Given the description of an element on the screen output the (x, y) to click on. 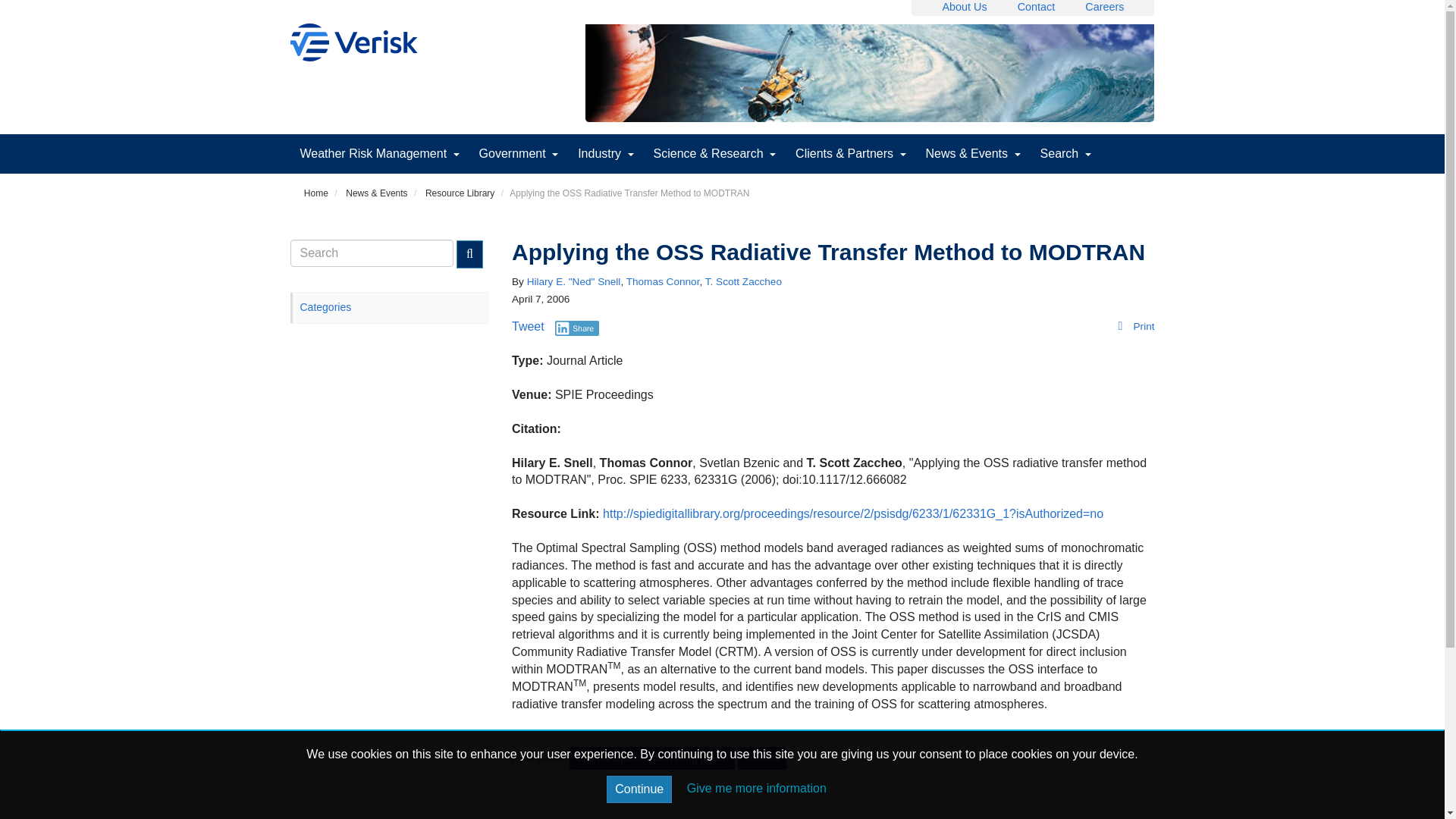
About Us (964, 6)
About Us (964, 6)
Weather Risk Management (378, 153)
Contact (1036, 6)
search (370, 252)
Industry (605, 153)
Careers (1104, 6)
Government (518, 153)
